Given the description of an element on the screen output the (x, y) to click on. 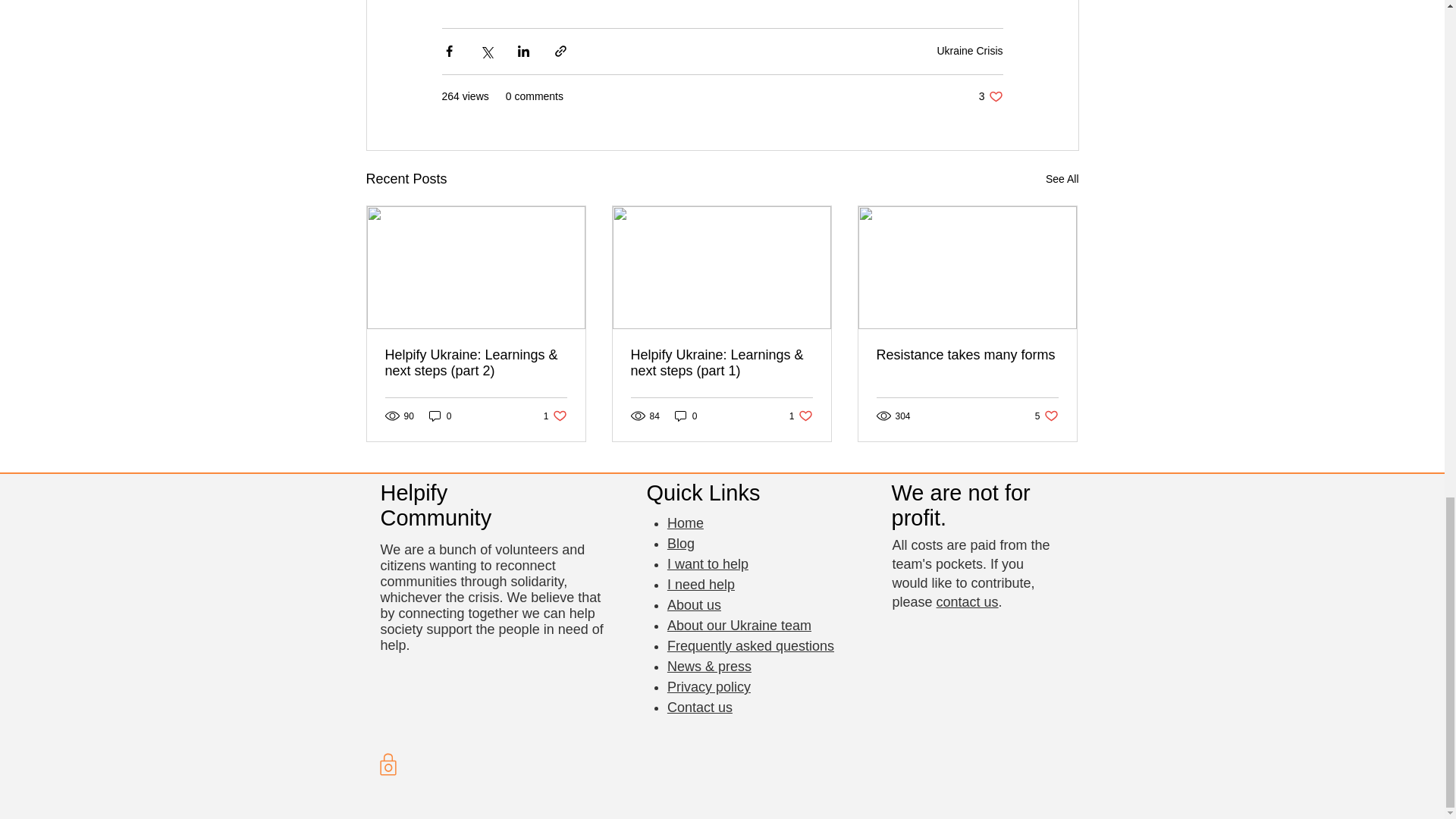
About us (990, 96)
Privacy policy (1046, 415)
See All (693, 604)
Frequently asked questions (708, 686)
0 (1061, 179)
Home (750, 645)
Resistance takes many forms (685, 415)
I need help (684, 522)
0 (967, 355)
Contact us (800, 415)
Blog (700, 584)
I want to help (440, 415)
